Given the description of an element on the screen output the (x, y) to click on. 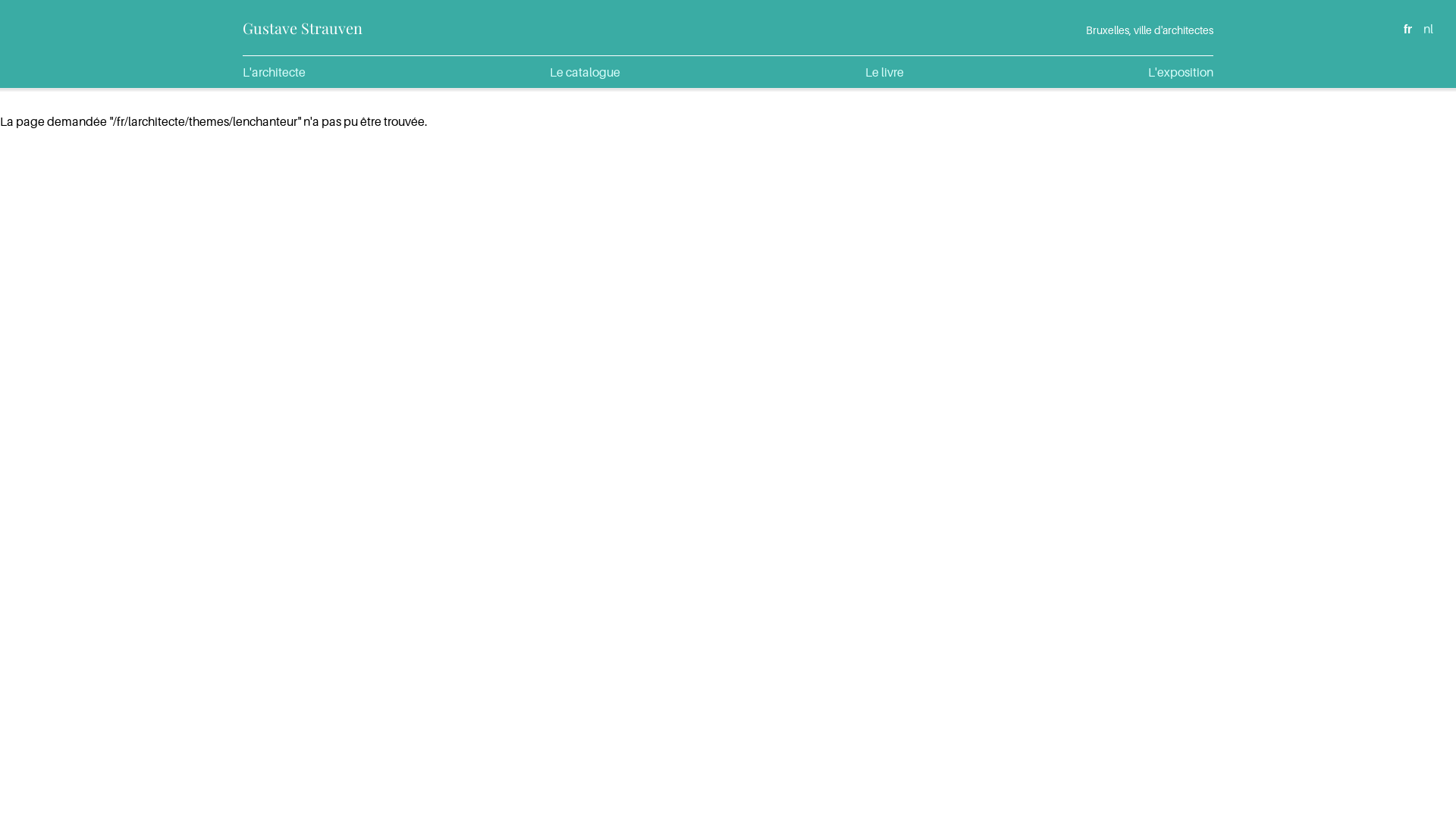
fr Element type: text (1407, 28)
Le livre Element type: text (884, 71)
Gustave Strauven Element type: text (302, 27)
L'exposition Element type: text (1180, 71)
L'architecte Element type: text (273, 71)
Le catalogue Element type: text (584, 71)
Bruxelles, ville d'architectes Element type: text (1149, 29)
nl Element type: text (1428, 28)
